Given the description of an element on the screen output the (x, y) to click on. 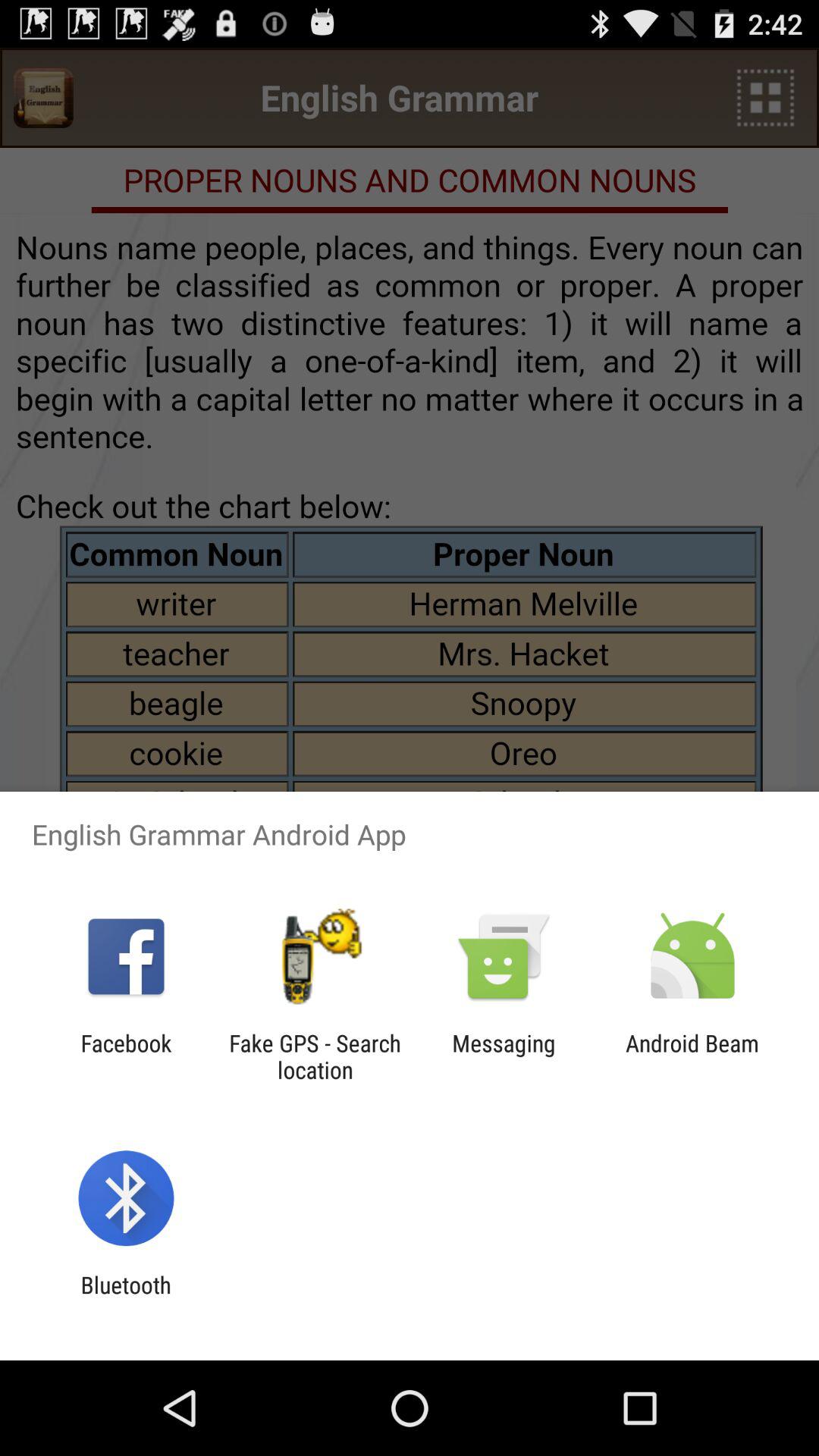
turn off the android beam app (692, 1056)
